Given the description of an element on the screen output the (x, y) to click on. 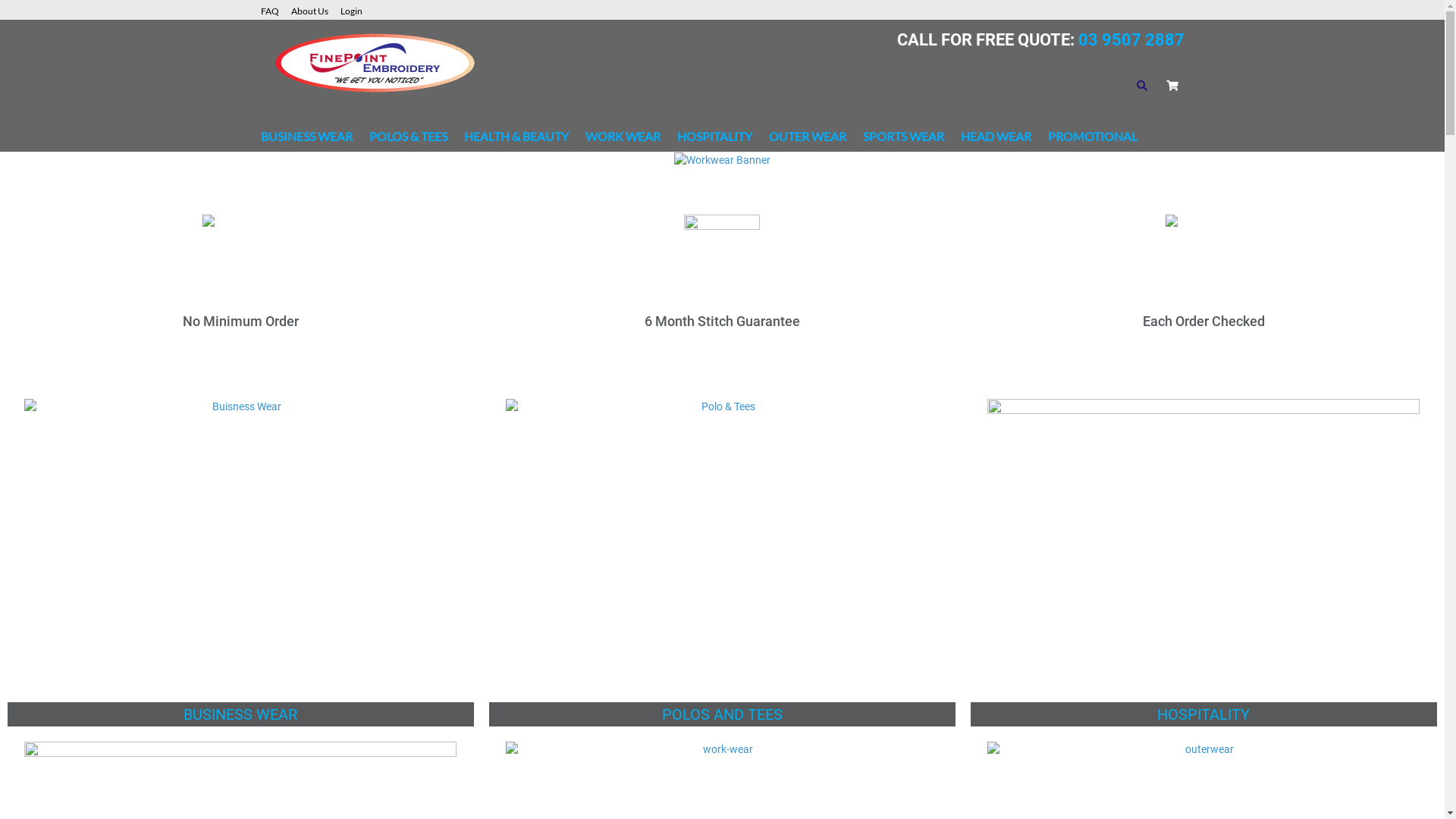
POLOS & TEES Element type: text (407, 136)
03 9507 2887 Element type: text (1128, 39)
About Us Element type: text (315, 9)
BUSINESS WEAR Element type: text (306, 136)
HOSPITALITY Element type: text (713, 136)
FAQ Element type: text (275, 9)
OUTER WEAR Element type: text (807, 136)
WORK WEAR Element type: text (622, 136)
HEAD WEAR Element type: text (995, 136)
Login Element type: text (356, 9)
SPORTS WEAR Element type: text (903, 136)
PROMOTIONAL Element type: text (1092, 136)
HEALTH & BEAUTY Element type: text (516, 136)
